Given the description of an element on the screen output the (x, y) to click on. 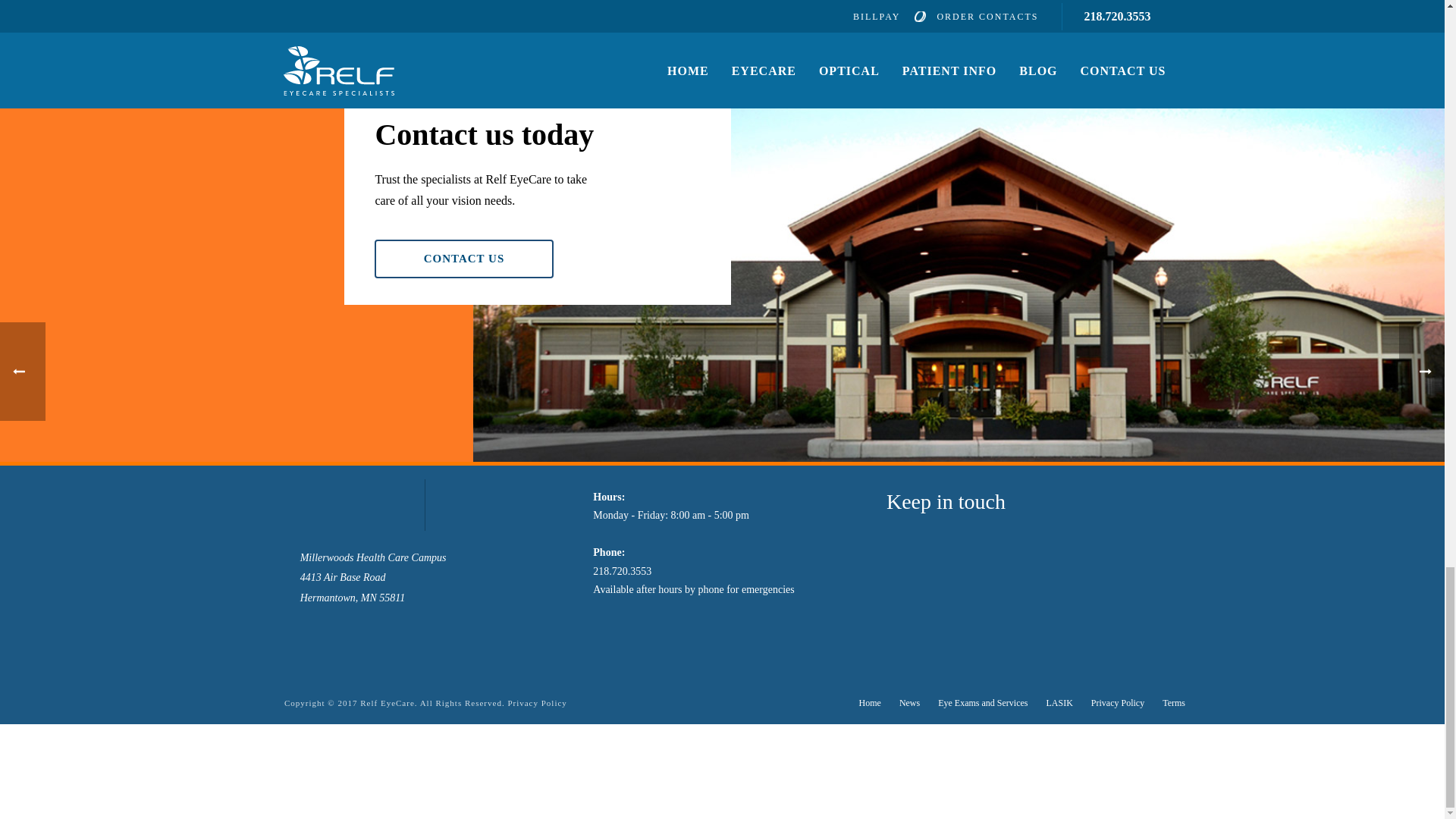
CONTACT US (463, 258)
